Given the description of an element on the screen output the (x, y) to click on. 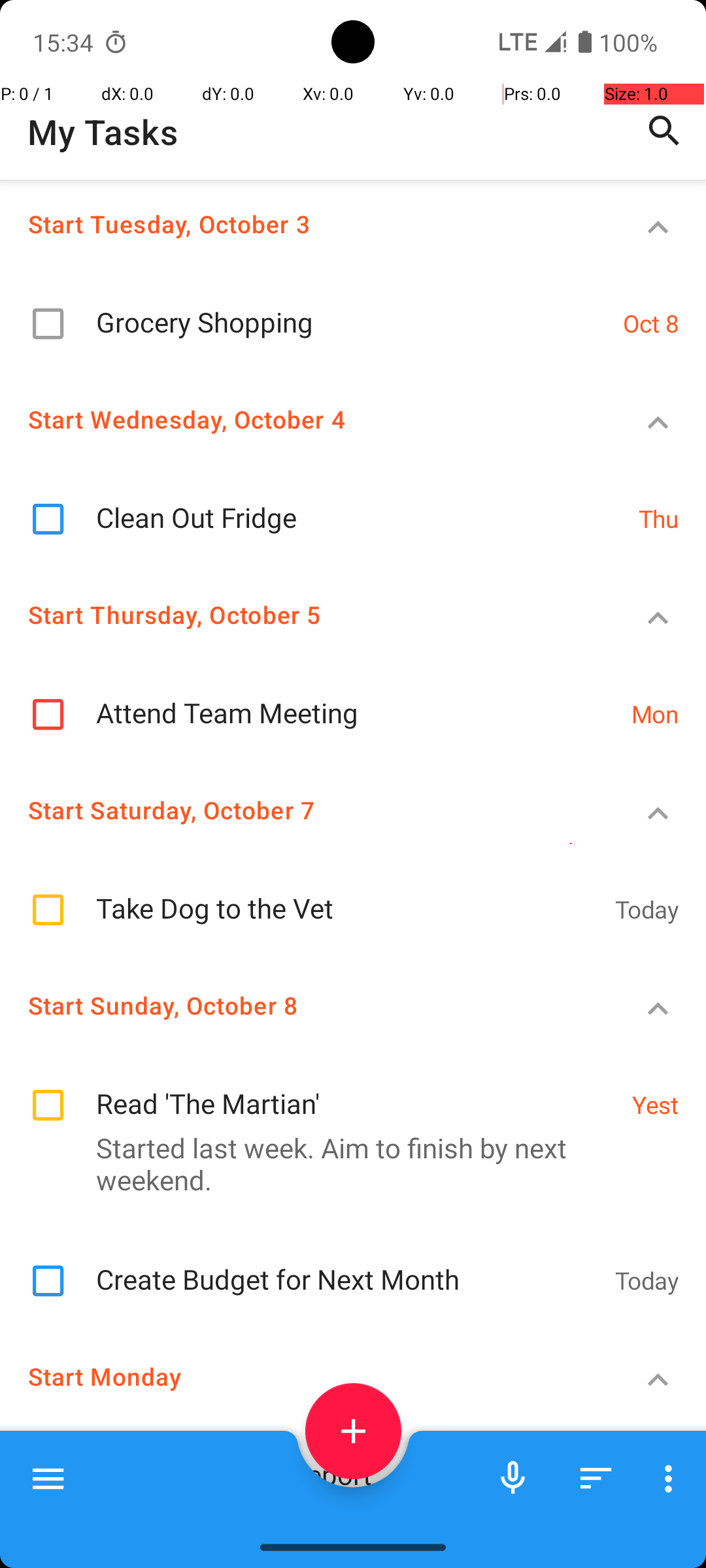
Start Tuesday, October 3 Element type: android.widget.TextView (304, 223)
Start Wednesday, October 4 Element type: android.widget.TextView (304, 419)
Start Thursday, October 5 Element type: android.widget.TextView (304, 614)
Start Saturday, October 7 Element type: android.widget.TextView (304, 854)
Start Sunday, October 8 Element type: android.widget.TextView (304, 1049)
Start Monday Element type: android.widget.TextView (304, 1420)
Submit expense report Element type: android.widget.TextView (363, 1499)
